Given the description of an element on the screen output the (x, y) to click on. 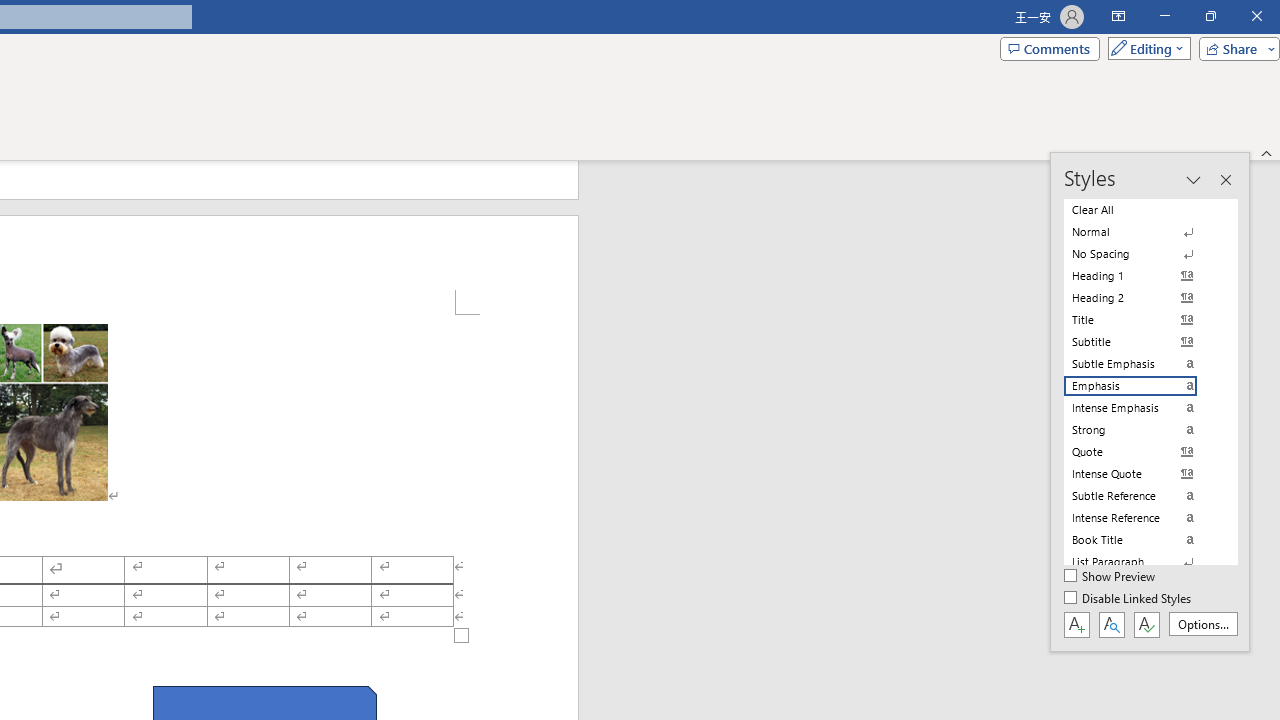
Disable Linked Styles (1129, 599)
No Spacing (1142, 253)
Show Preview (1110, 577)
